Given the description of an element on the screen output the (x, y) to click on. 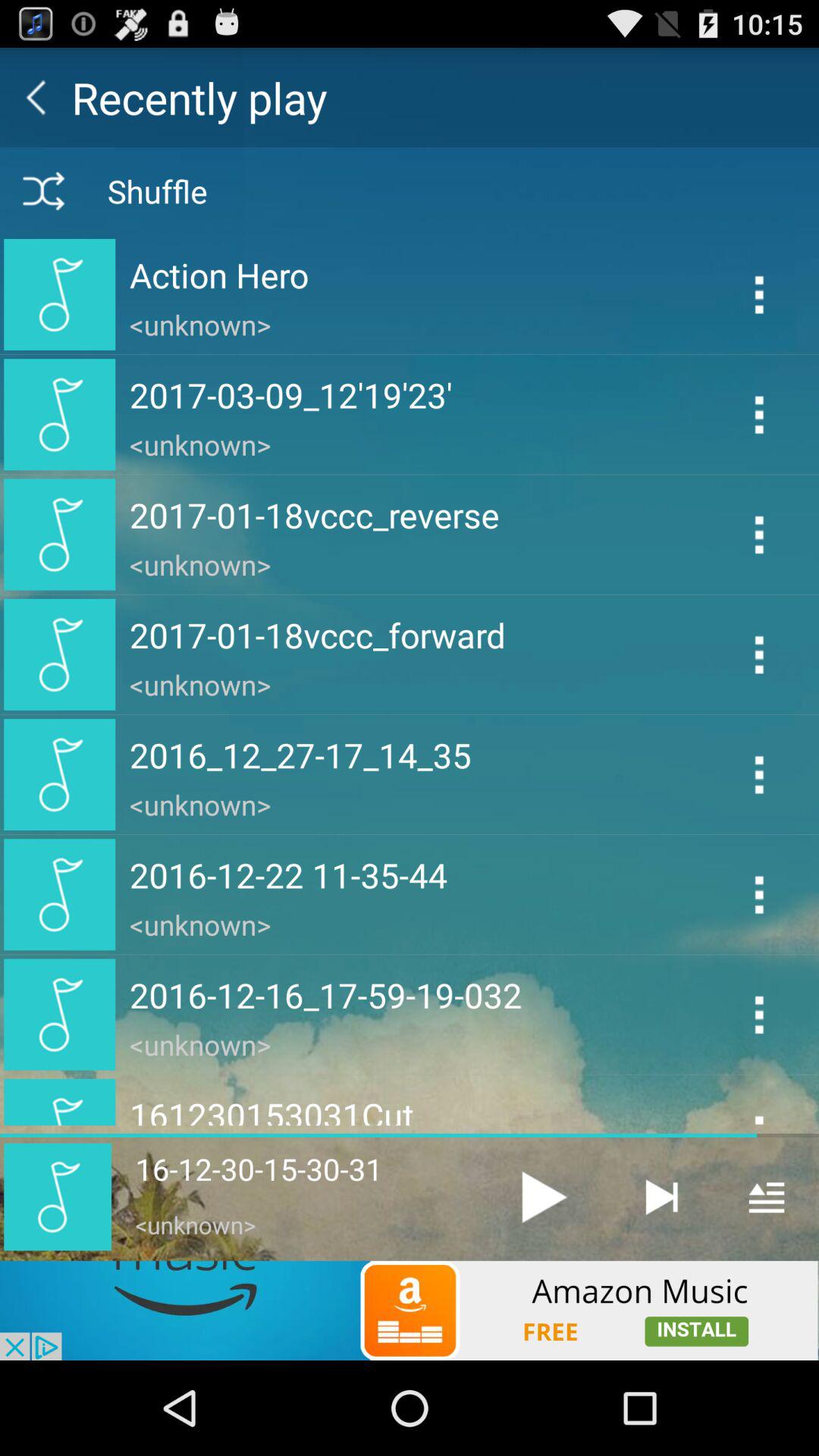
open menu (766, 1197)
